Given the description of an element on the screen output the (x, y) to click on. 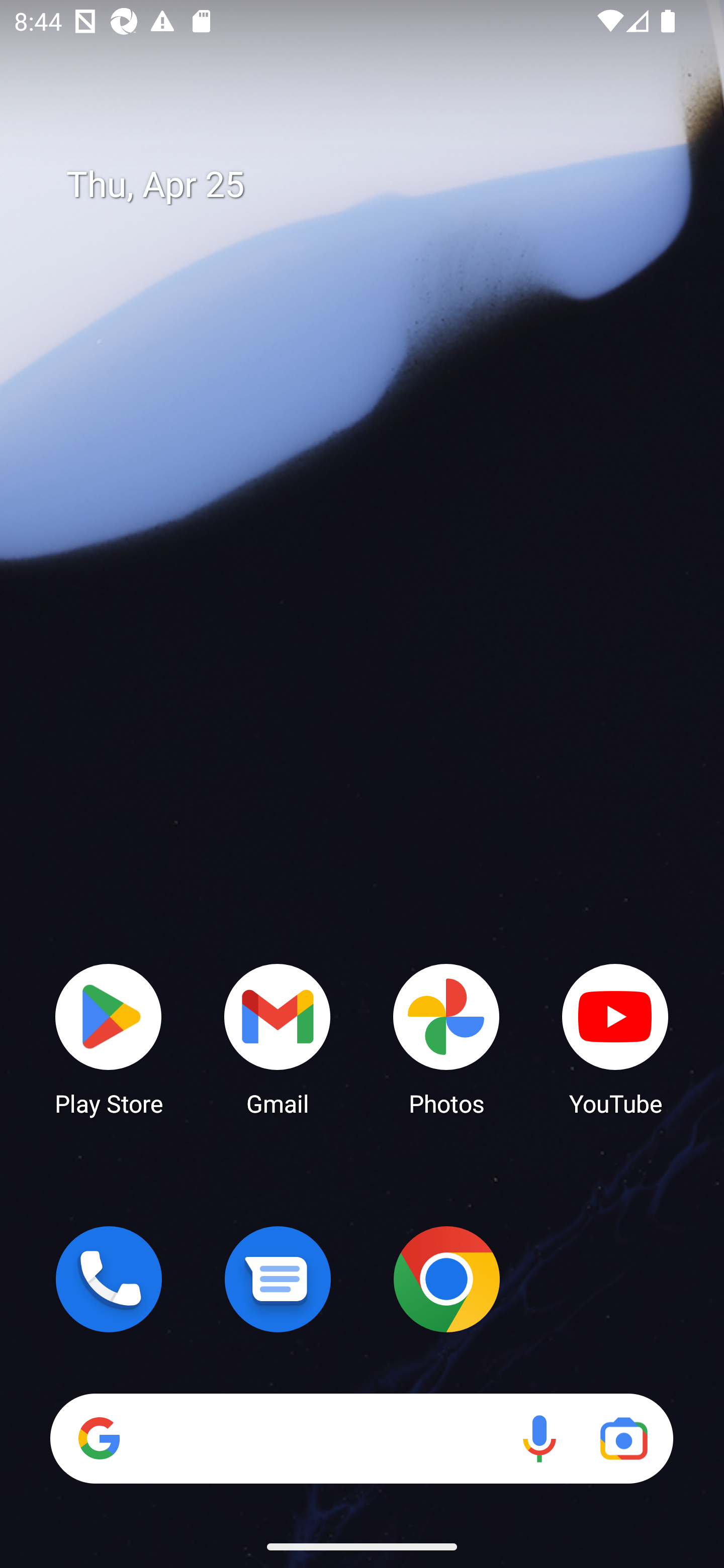
Thu, Apr 25 (375, 184)
Play Store (108, 1038)
Gmail (277, 1038)
Photos (445, 1038)
YouTube (615, 1038)
Phone (108, 1279)
Messages (277, 1279)
Chrome (446, 1279)
Search Voice search Google Lens (361, 1438)
Voice search (539, 1438)
Google Lens (623, 1438)
